Given the description of an element on the screen output the (x, y) to click on. 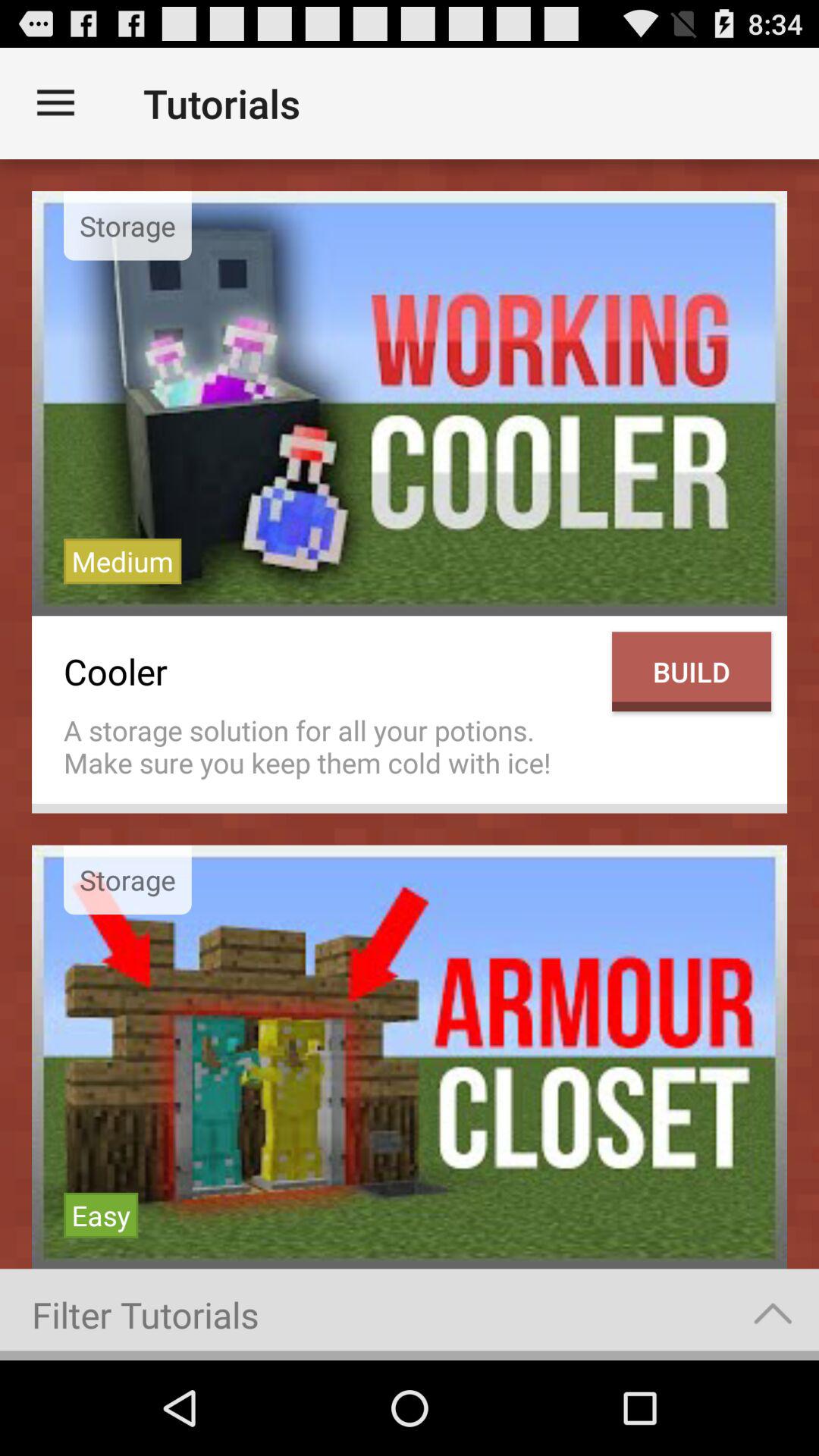
click icon below the cooler item (329, 746)
